Given the description of an element on the screen output the (x, y) to click on. 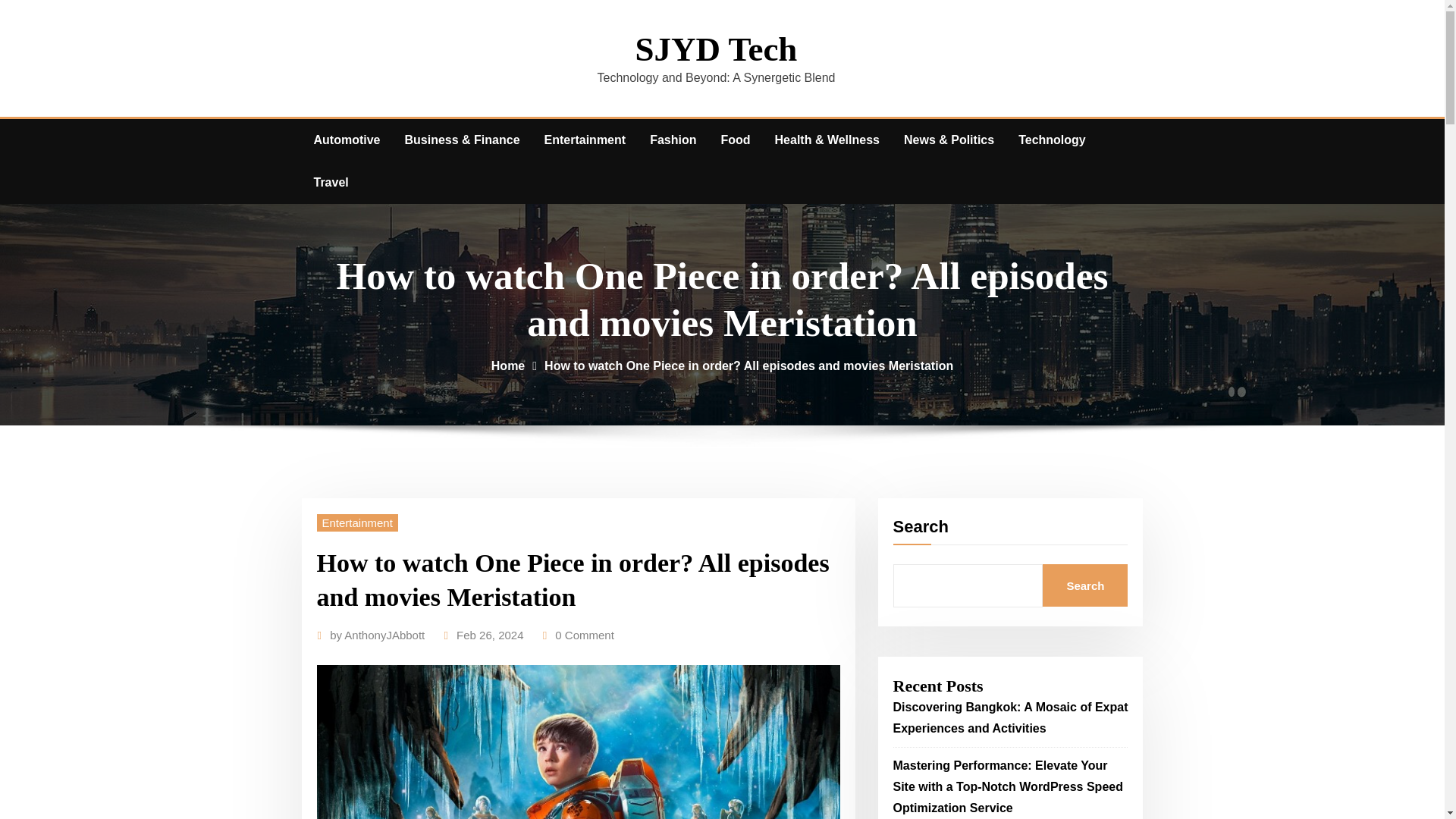
Technology (1051, 139)
SJYD Tech (715, 48)
by AnthonyJAbbott (377, 635)
Travel (331, 182)
Search (1084, 585)
Entertainment (357, 522)
Automotive (347, 139)
0 Comment (584, 635)
Entertainment (585, 139)
Food (734, 139)
Fashion (672, 139)
Feb 26, 2024 (489, 635)
